Given the description of an element on the screen output the (x, y) to click on. 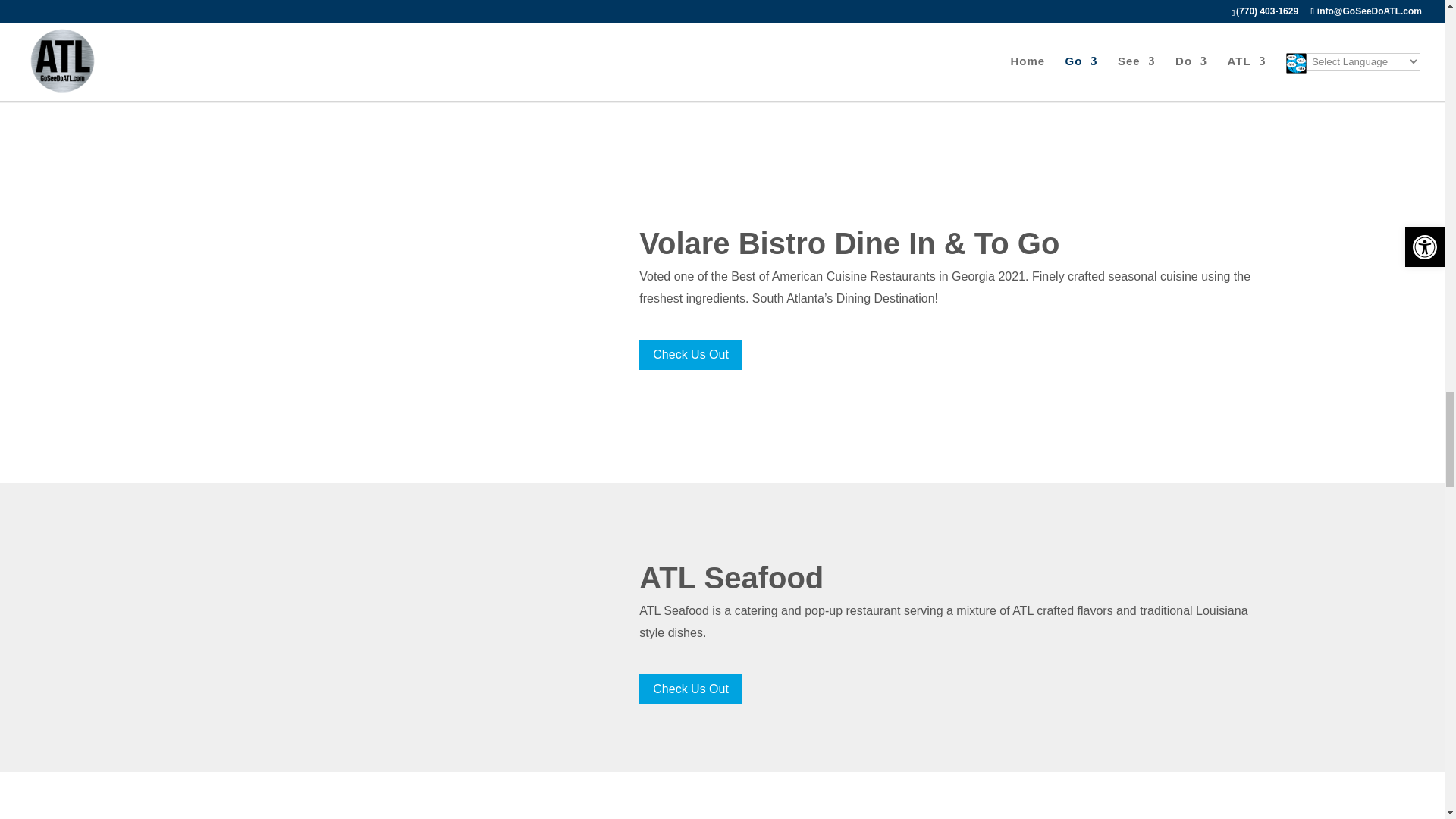
Check Us Out (690, 53)
Check Us Out (690, 688)
Check Us Out (690, 355)
